Given the description of an element on the screen output the (x, y) to click on. 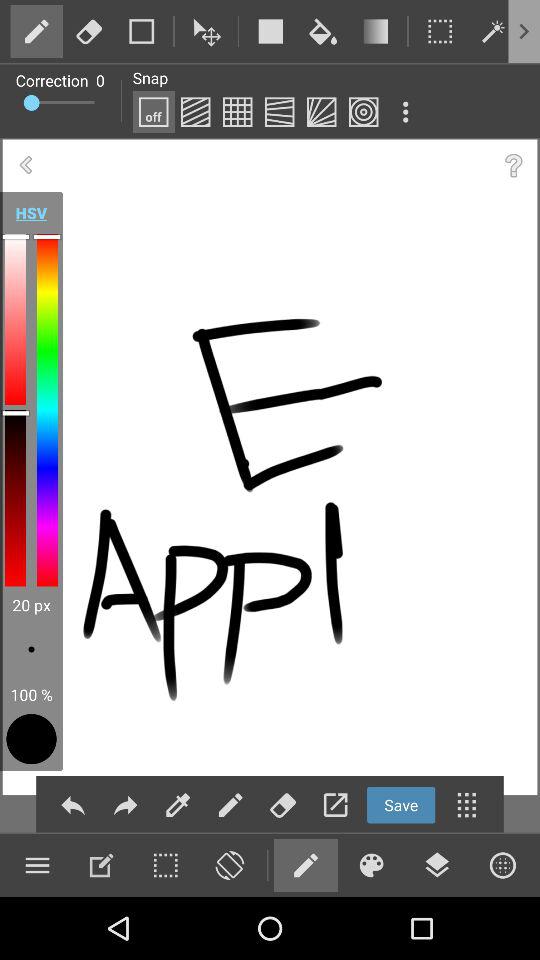
flood fill (323, 31)
